Given the description of an element on the screen output the (x, y) to click on. 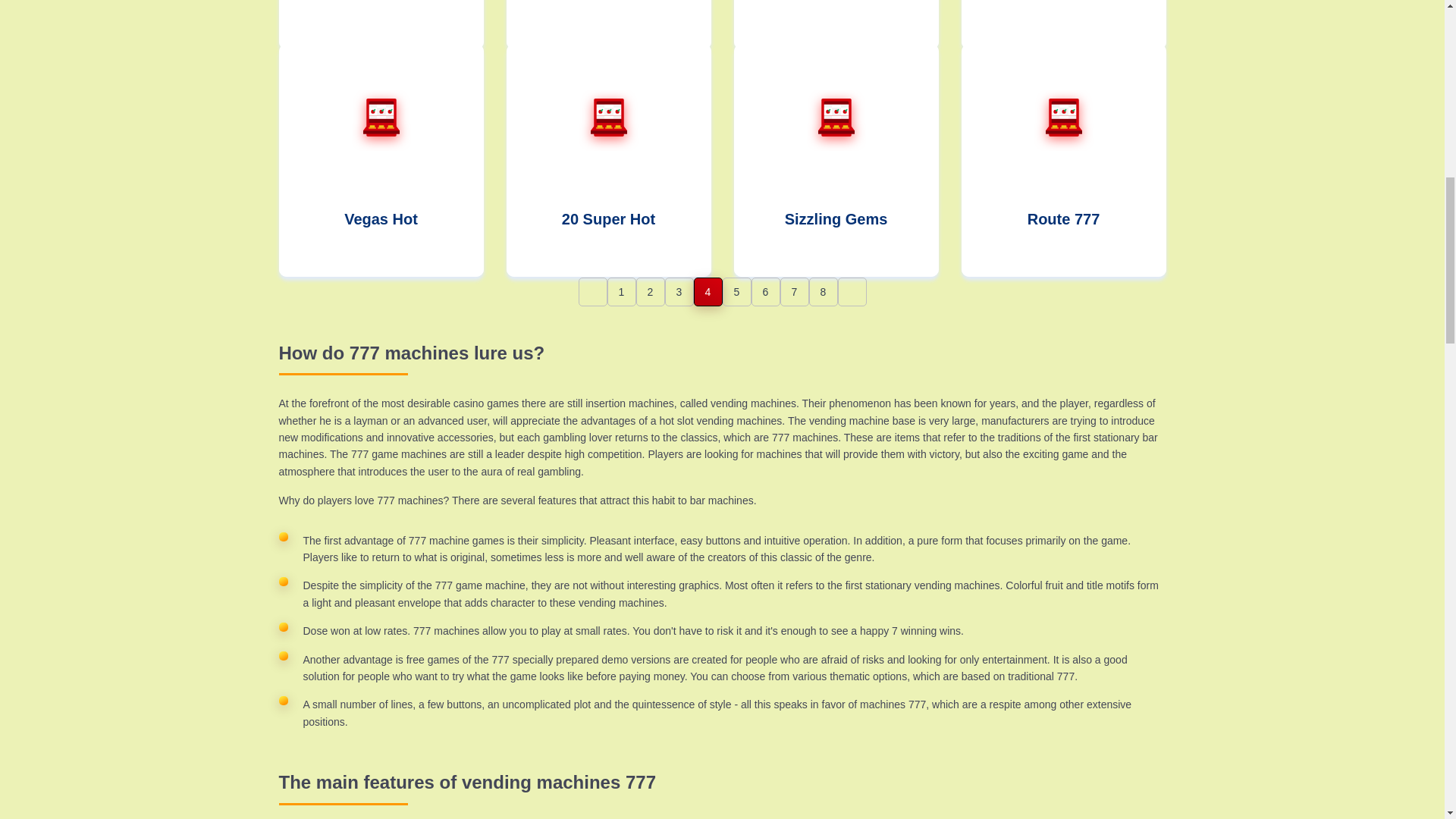
Extremely Hot (836, 24)
Lucky Hot (381, 24)
Super Sevens (1063, 24)
Super Sevens and Fruits (608, 24)
